Given the description of an element on the screen output the (x, y) to click on. 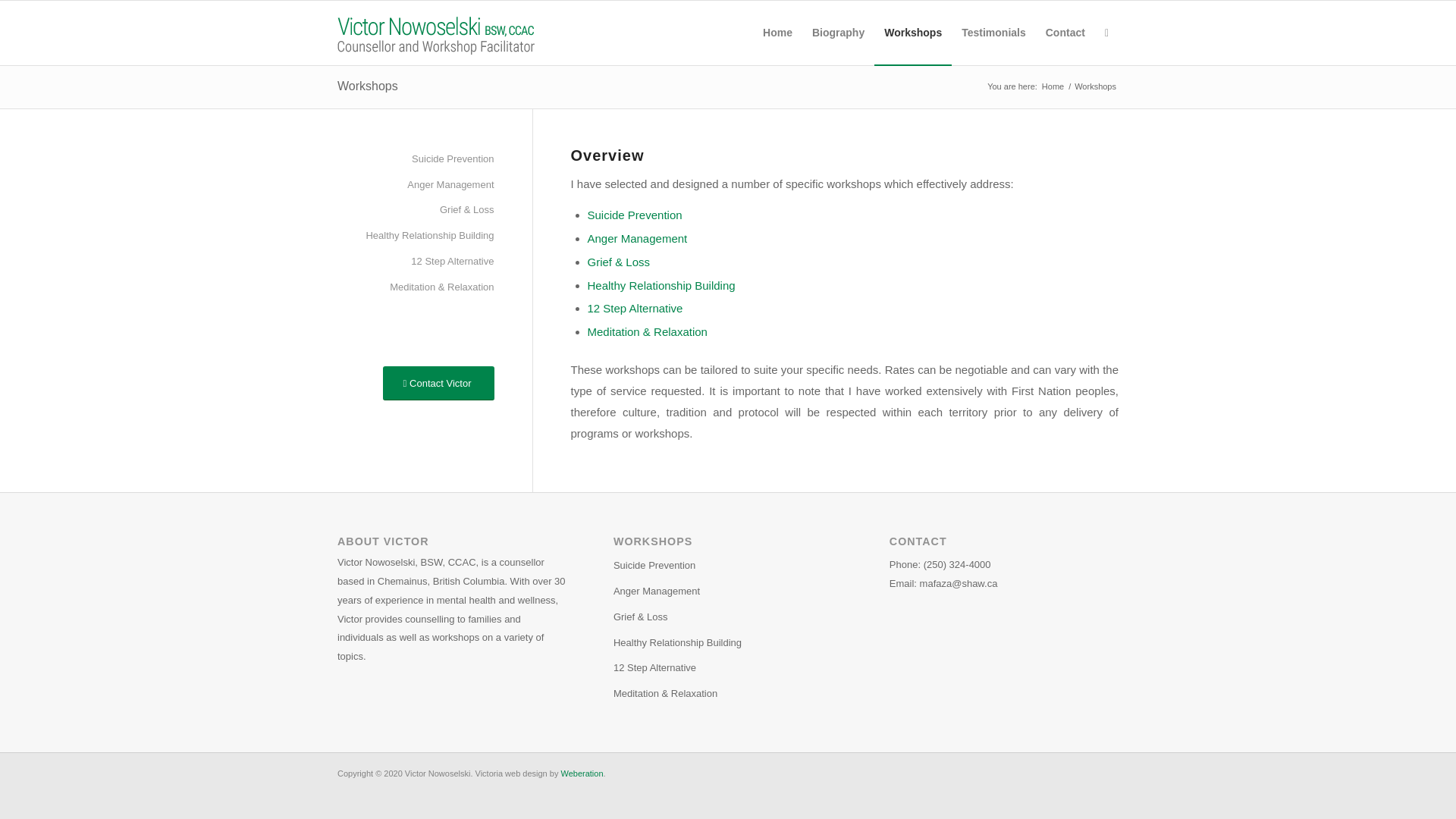
Anger Management (727, 592)
Workshops (367, 85)
Anger Management (636, 237)
Anger Management (416, 185)
Victor Nowoselski (1052, 86)
12 Step Alternative (727, 668)
Weberation (581, 773)
Suicide Prevention (633, 214)
Healthy Relationship Building (727, 643)
Contact Victor (437, 383)
